Given the description of an element on the screen output the (x, y) to click on. 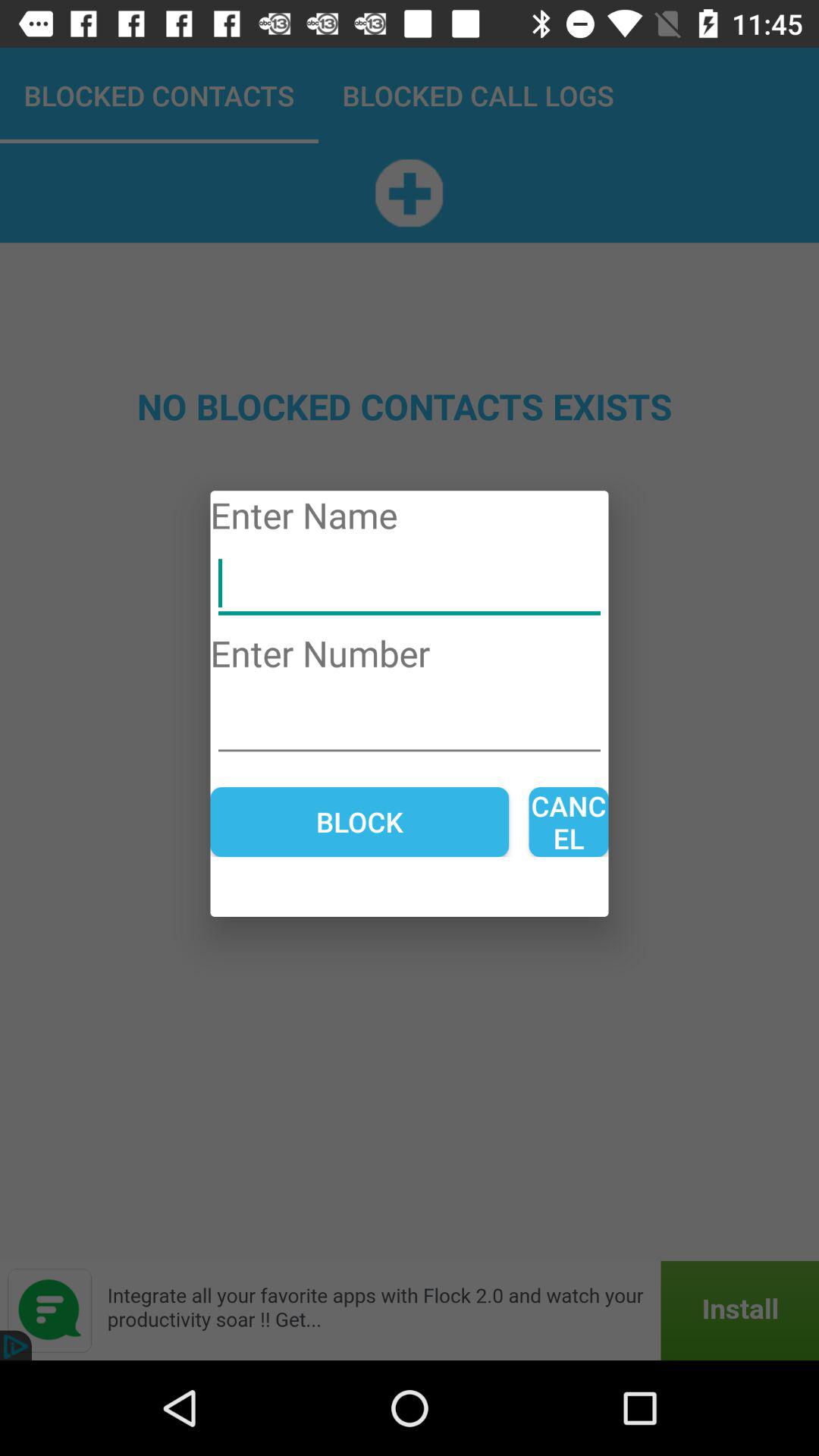
swipe until cancel (568, 822)
